Given the description of an element on the screen output the (x, y) to click on. 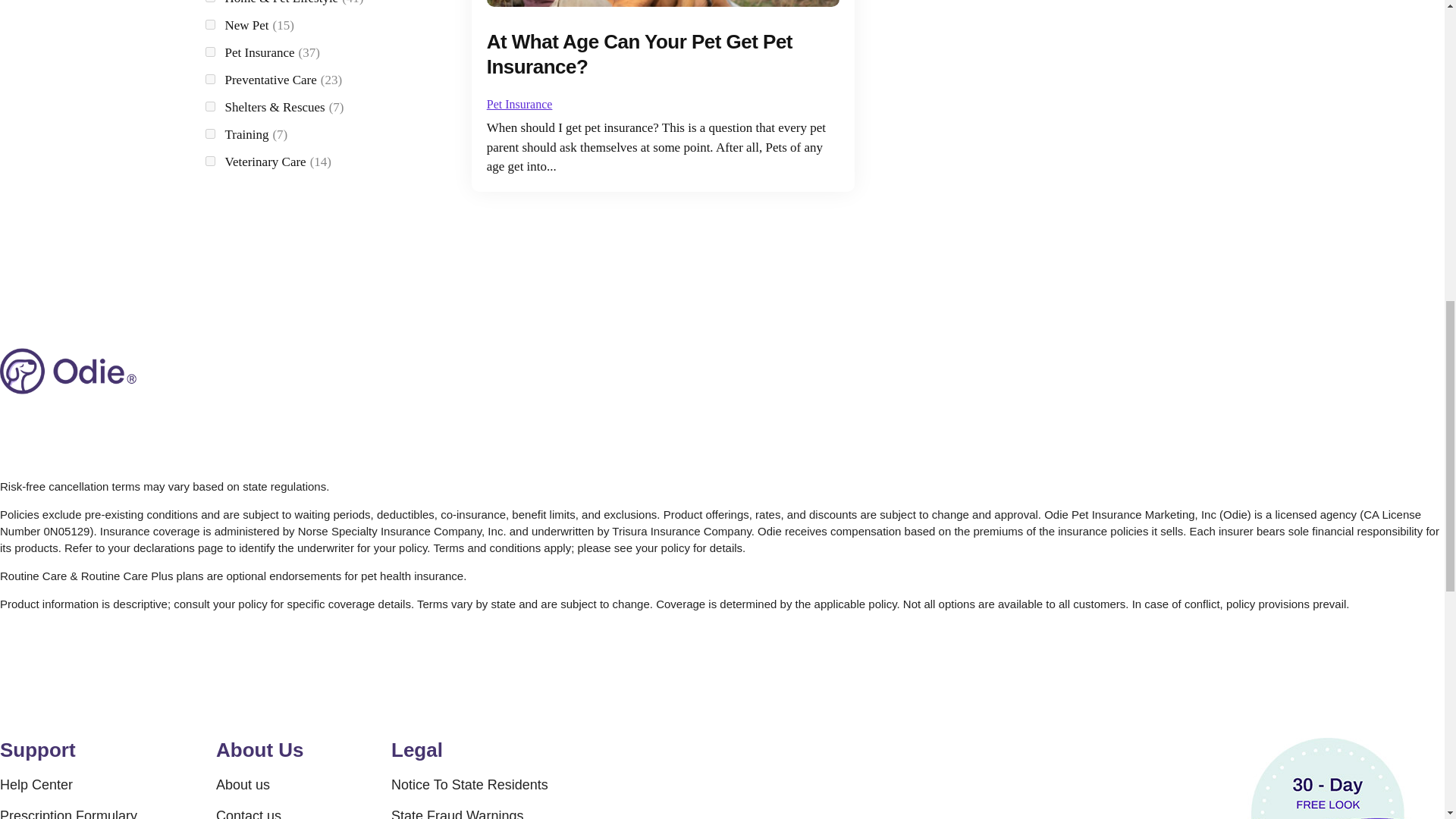
training (209, 133)
Pet Insurance (519, 103)
preventative-care (209, 79)
veterinary-care (209, 161)
shelters-rescues (209, 106)
pet-insurance (209, 51)
new-pet (209, 24)
At What Age Can Your Pet Get Pet Insurance? (639, 54)
logo (68, 370)
